Given the description of an element on the screen output the (x, y) to click on. 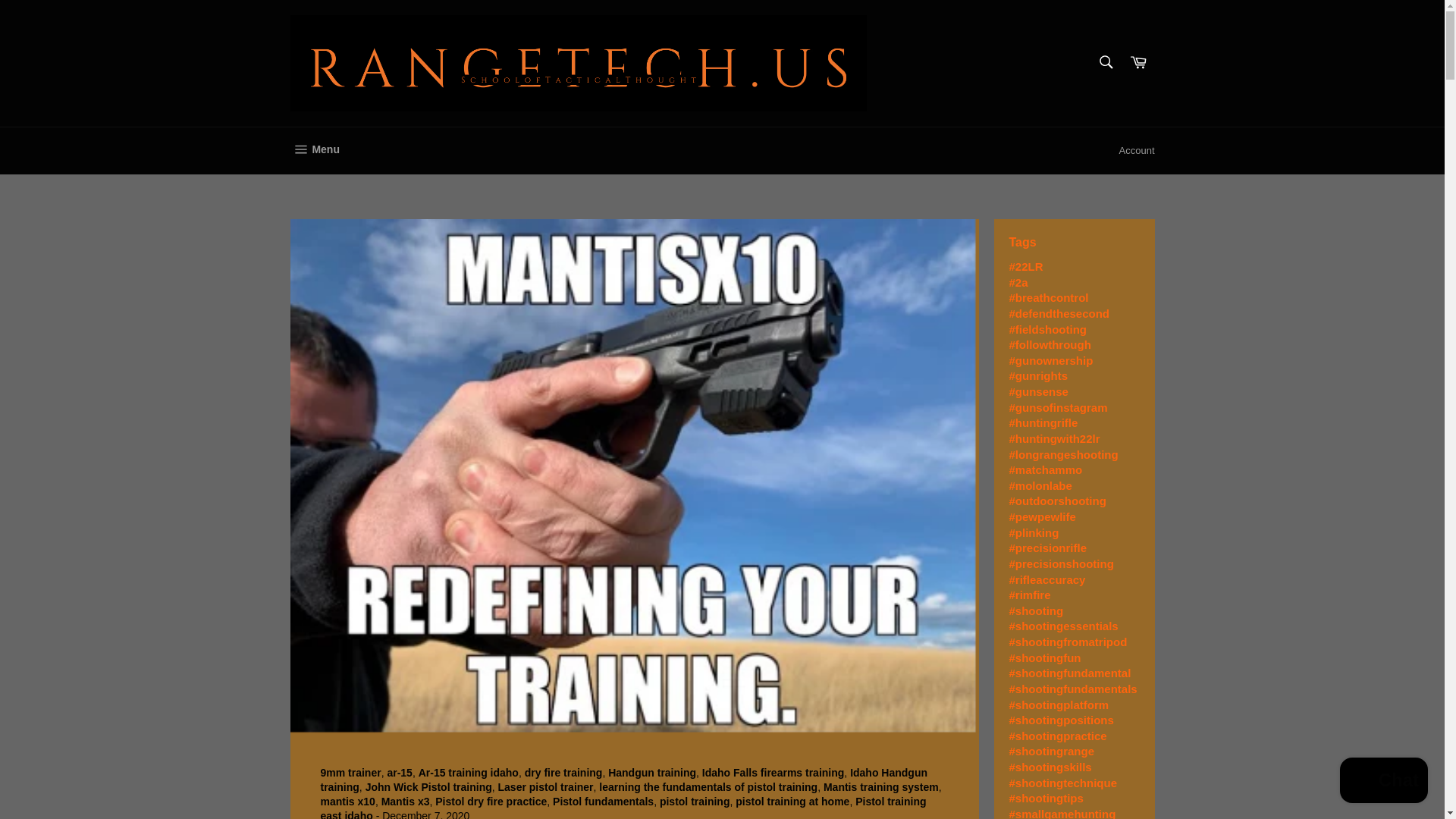
ar-15 (399, 772)
Ar-15 training idaho (468, 772)
dry fire training (563, 772)
Cart (1138, 62)
9mm trainer (350, 772)
Search (1104, 61)
Account (1136, 150)
